Given the description of an element on the screen output the (x, y) to click on. 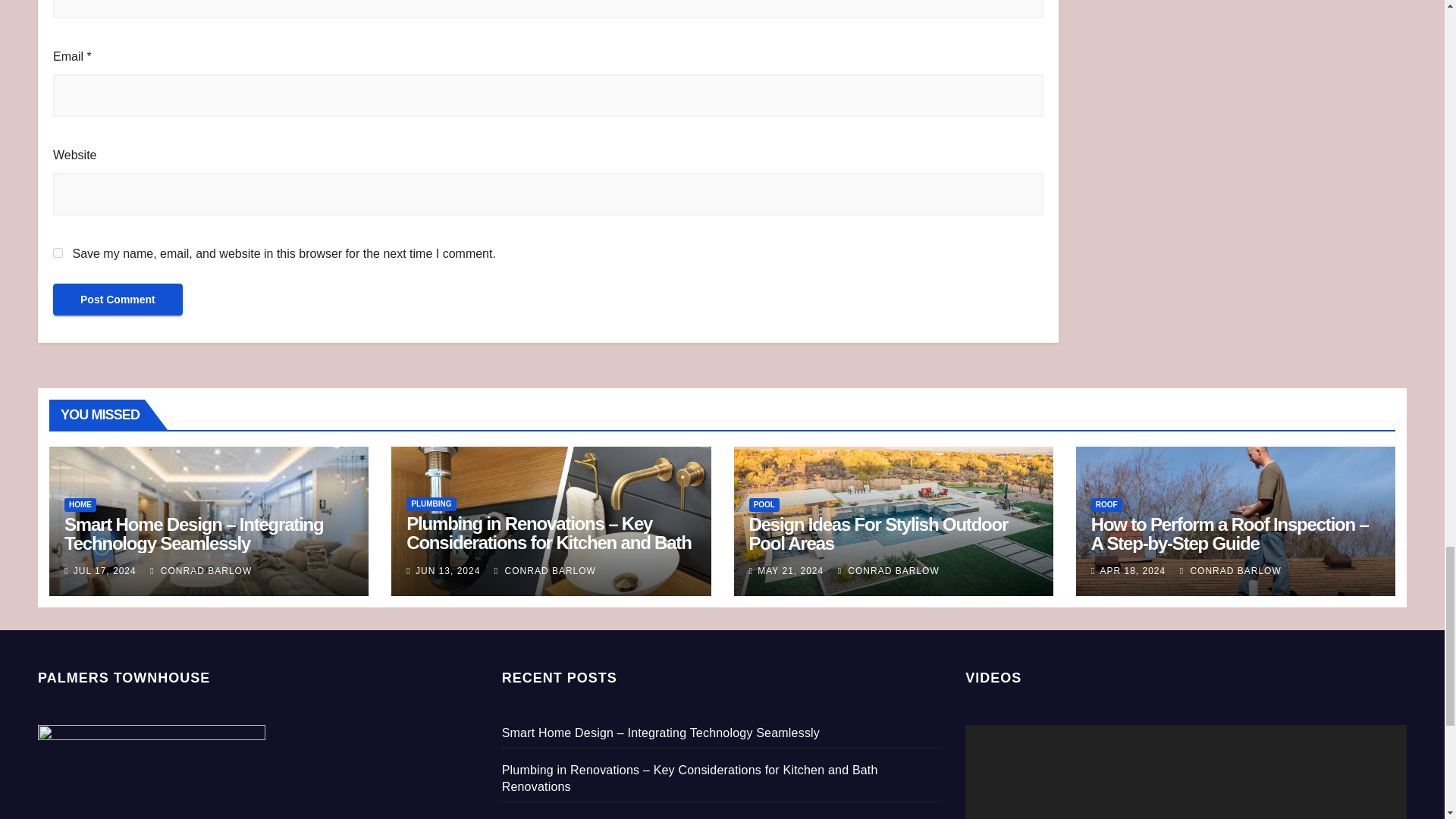
yes (57, 252)
Post Comment (117, 299)
Permalink to: Design Ideas For Stylish Outdoor Pool Areas (879, 533)
